Given the description of an element on the screen output the (x, y) to click on. 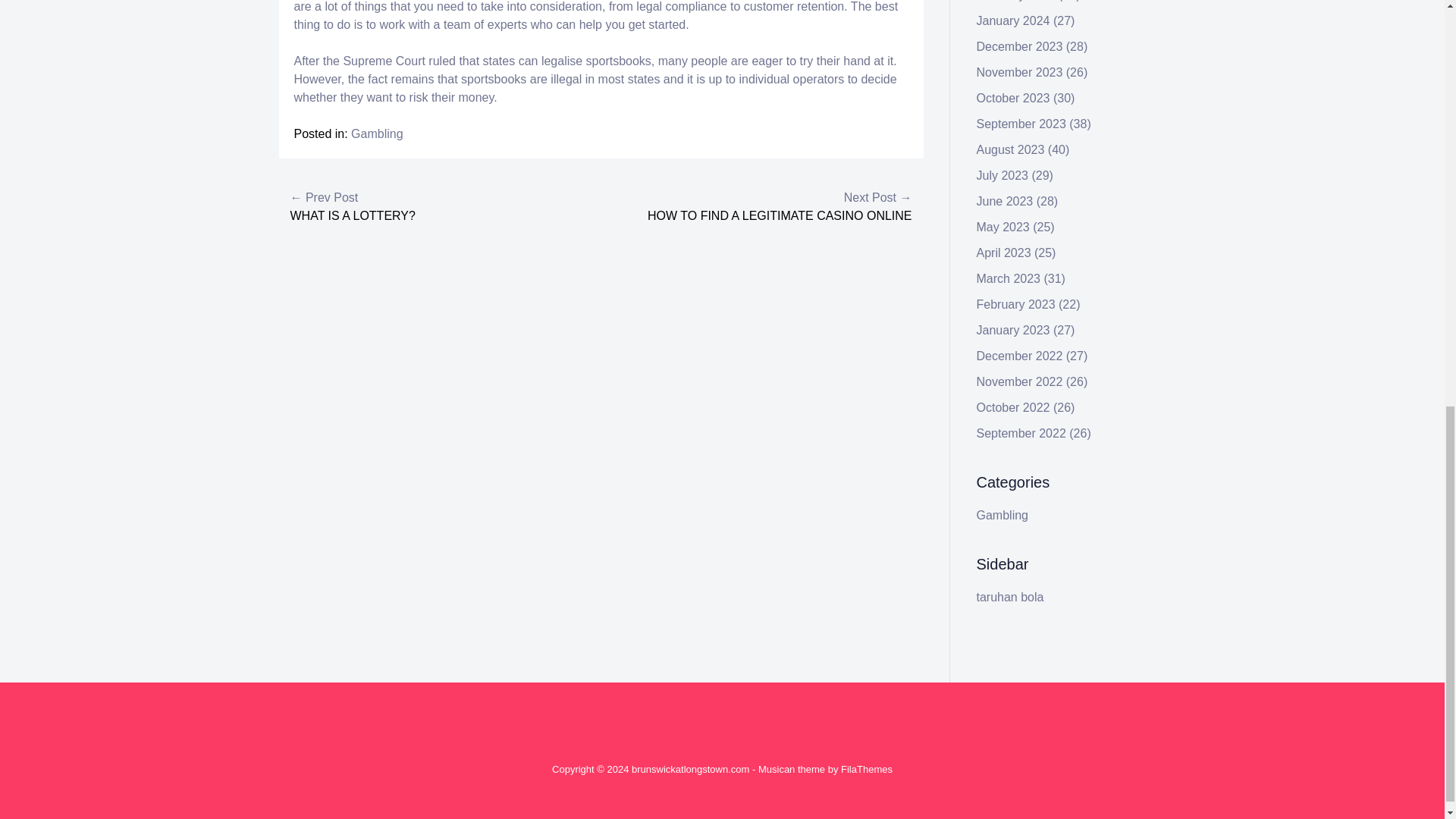
December 2022 (1019, 355)
November 2022 (1019, 381)
July 2023 (1002, 174)
January 2023 (1012, 329)
November 2023 (1019, 72)
August 2023 (1010, 149)
January 2024 (1012, 20)
October 2023 (1012, 97)
June 2023 (1004, 201)
September 2023 (1020, 123)
February 2023 (1015, 304)
Gambling (376, 133)
May 2023 (1002, 226)
December 2023 (1019, 46)
brunswickatlongstown.com (690, 768)
